Given the description of an element on the screen output the (x, y) to click on. 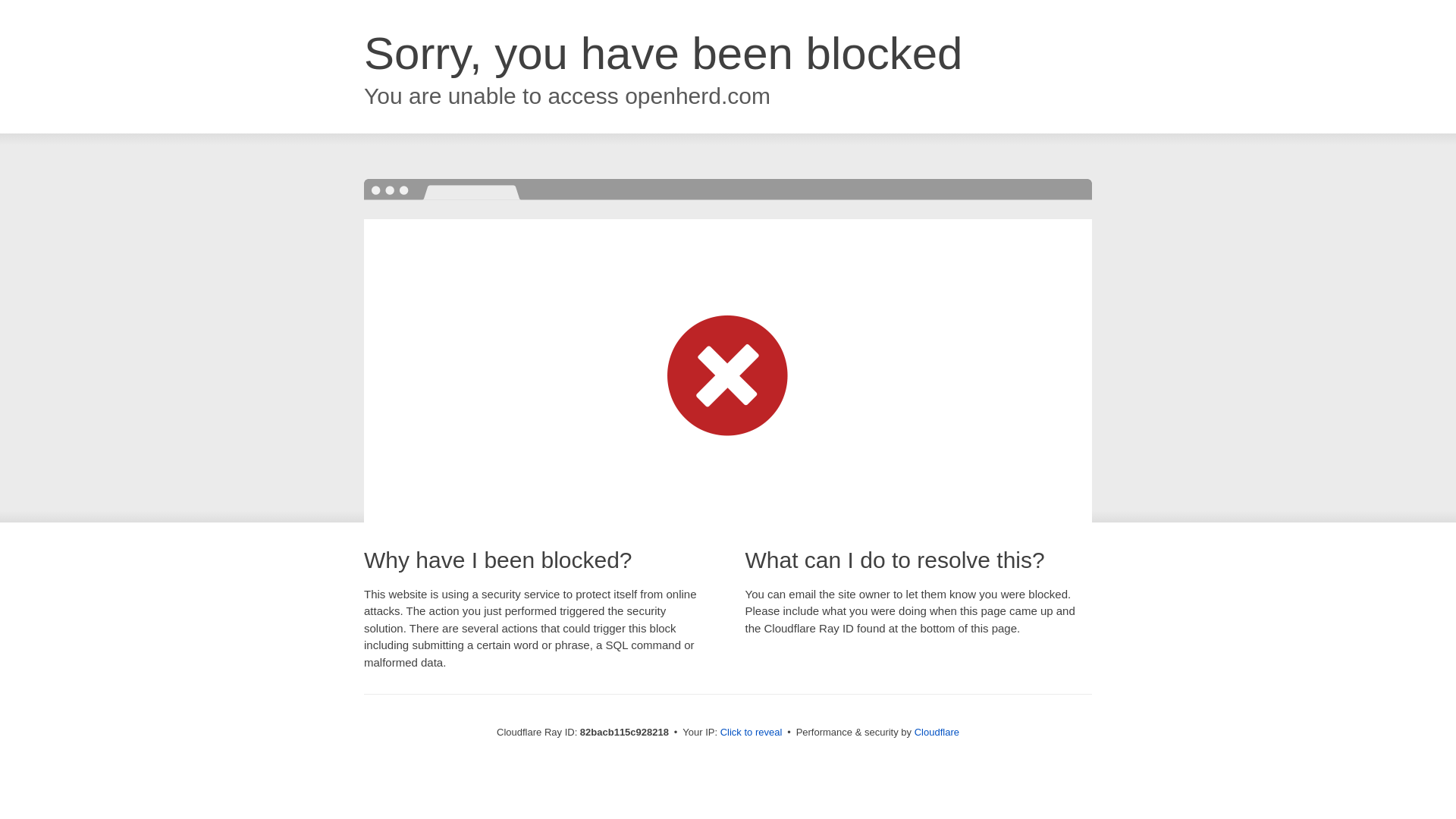
Cloudflare Element type: text (936, 731)
Click to reveal Element type: text (751, 732)
